Given the description of an element on the screen output the (x, y) to click on. 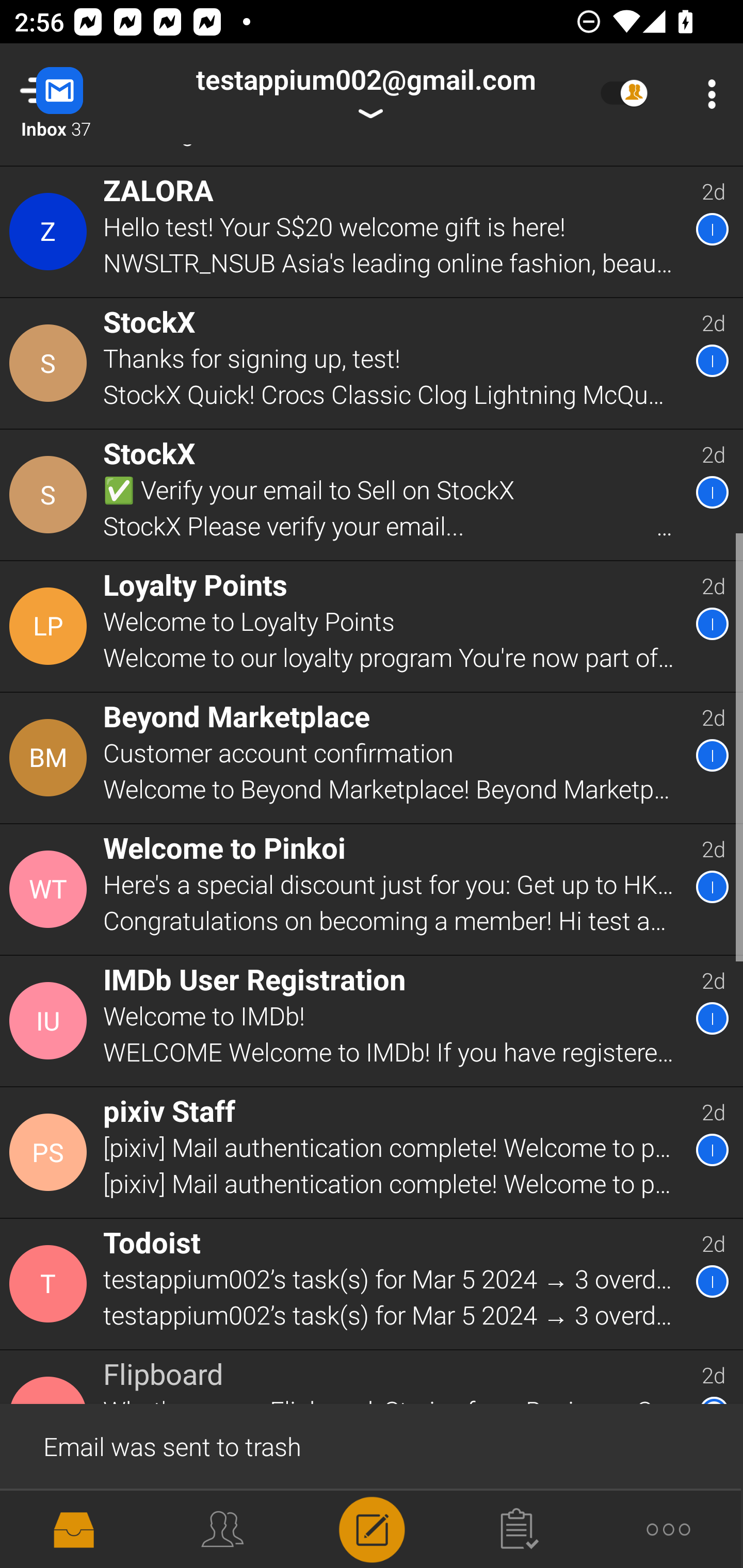
Navigate up (81, 93)
testappium002@gmail.com (365, 93)
More Options (706, 93)
Contact Details (50, 231)
Contact Details (50, 362)
Contact Details (50, 494)
Contact Details (50, 626)
Contact Details (50, 758)
Contact Details (50, 889)
Contact Details (50, 1021)
Contact Details (50, 1152)
Contact Details (50, 1284)
Email was sent to trash (371, 1445)
